Given the description of an element on the screen output the (x, y) to click on. 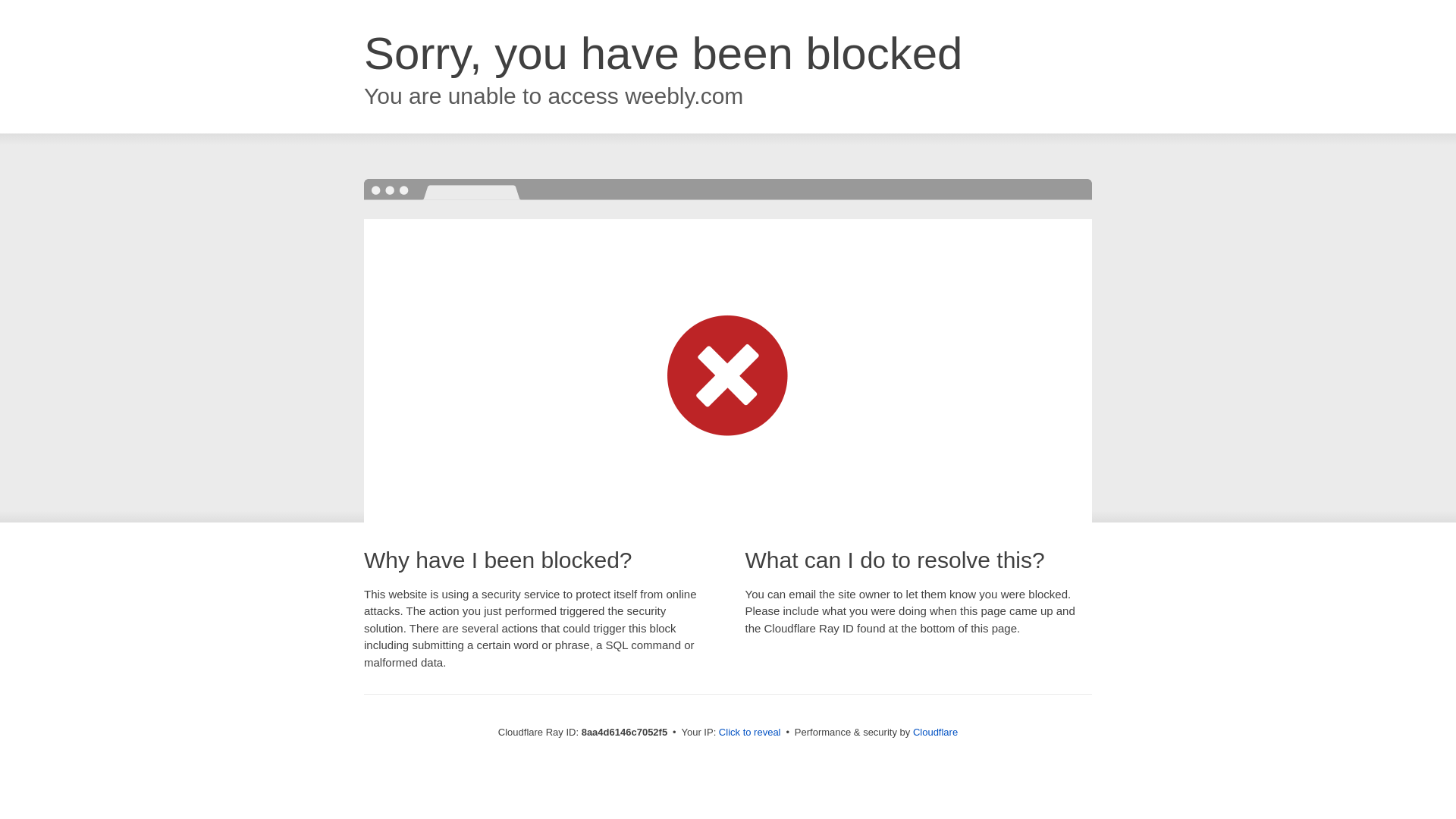
Click to reveal (749, 732)
Cloudflare (935, 731)
